Given the description of an element on the screen output the (x, y) to click on. 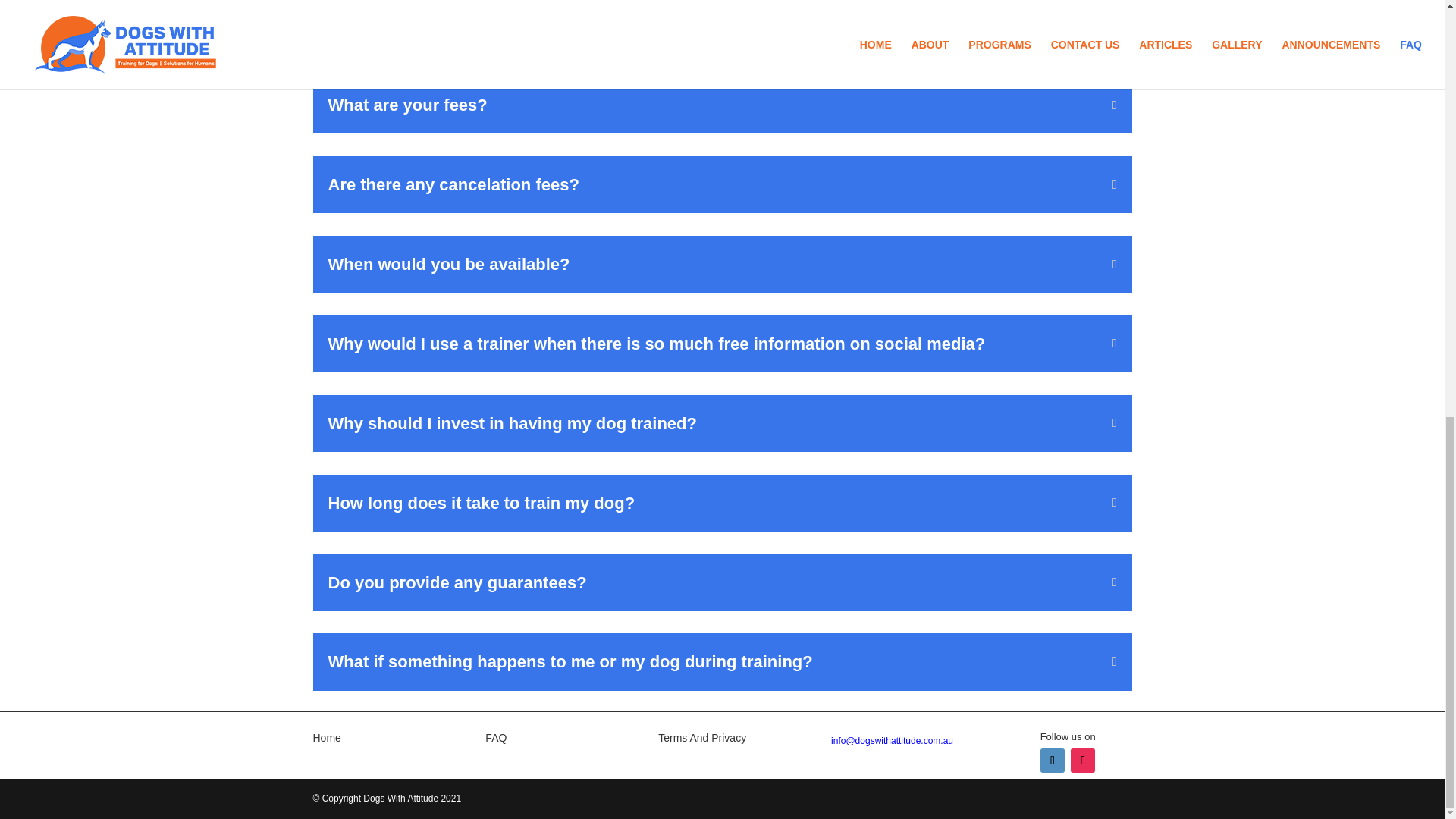
Follow on Facebook (1052, 760)
Follow on Instagram (1082, 760)
